Given the description of an element on the screen output the (x, y) to click on. 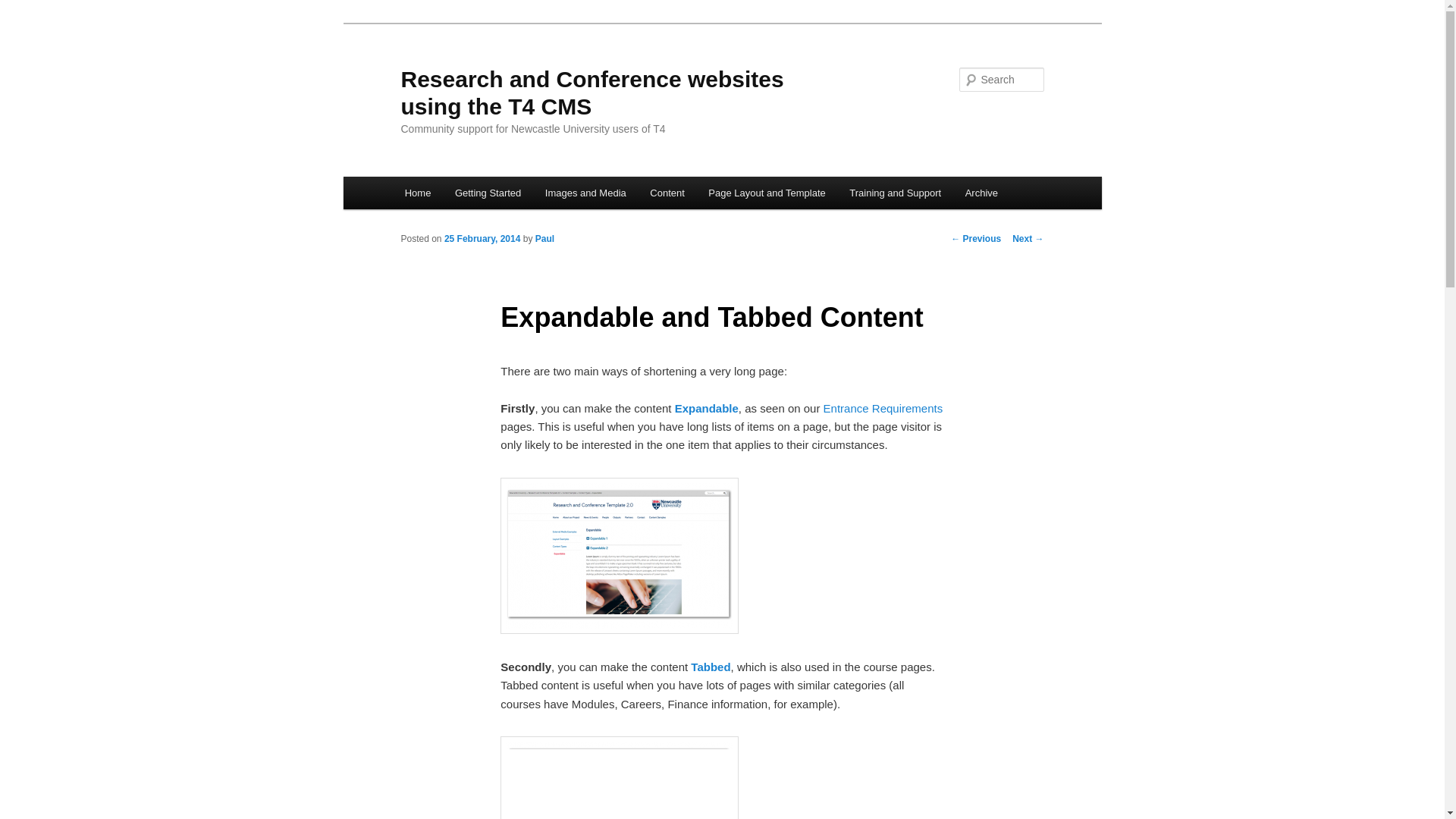
Page Layout and Template (767, 192)
Tabbed (708, 666)
Research and Conference websites using the T4 CMS (591, 92)
Training and Support (895, 192)
Entrance Requirements (883, 408)
25 February, 2014 (482, 238)
Expandable (706, 408)
Home (417, 192)
Search (24, 8)
Content (668, 192)
Paul (544, 238)
2:26 pm (482, 238)
Getting Started (487, 192)
Archive (981, 192)
